Given the description of an element on the screen output the (x, y) to click on. 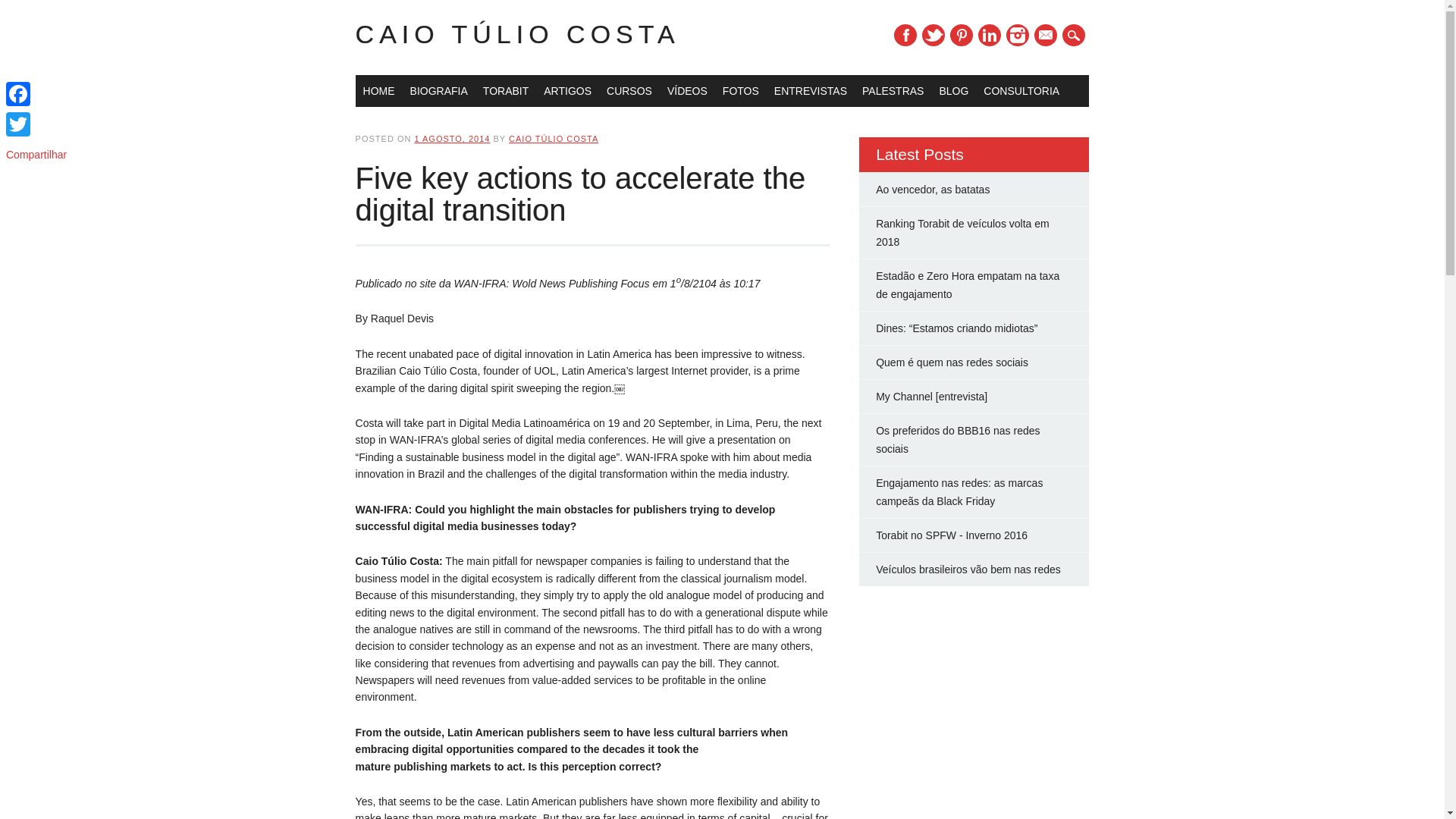
ENTREVISTAS (810, 91)
CONSULTORIA (1021, 91)
CURSOS (628, 91)
Ao vencedor, as batatas (933, 189)
Twitter (932, 34)
FOTOS (740, 91)
BIOGRAFIA (439, 91)
Instagram (1017, 34)
PALESTRAS (892, 91)
BLOG (953, 91)
